Given the description of an element on the screen output the (x, y) to click on. 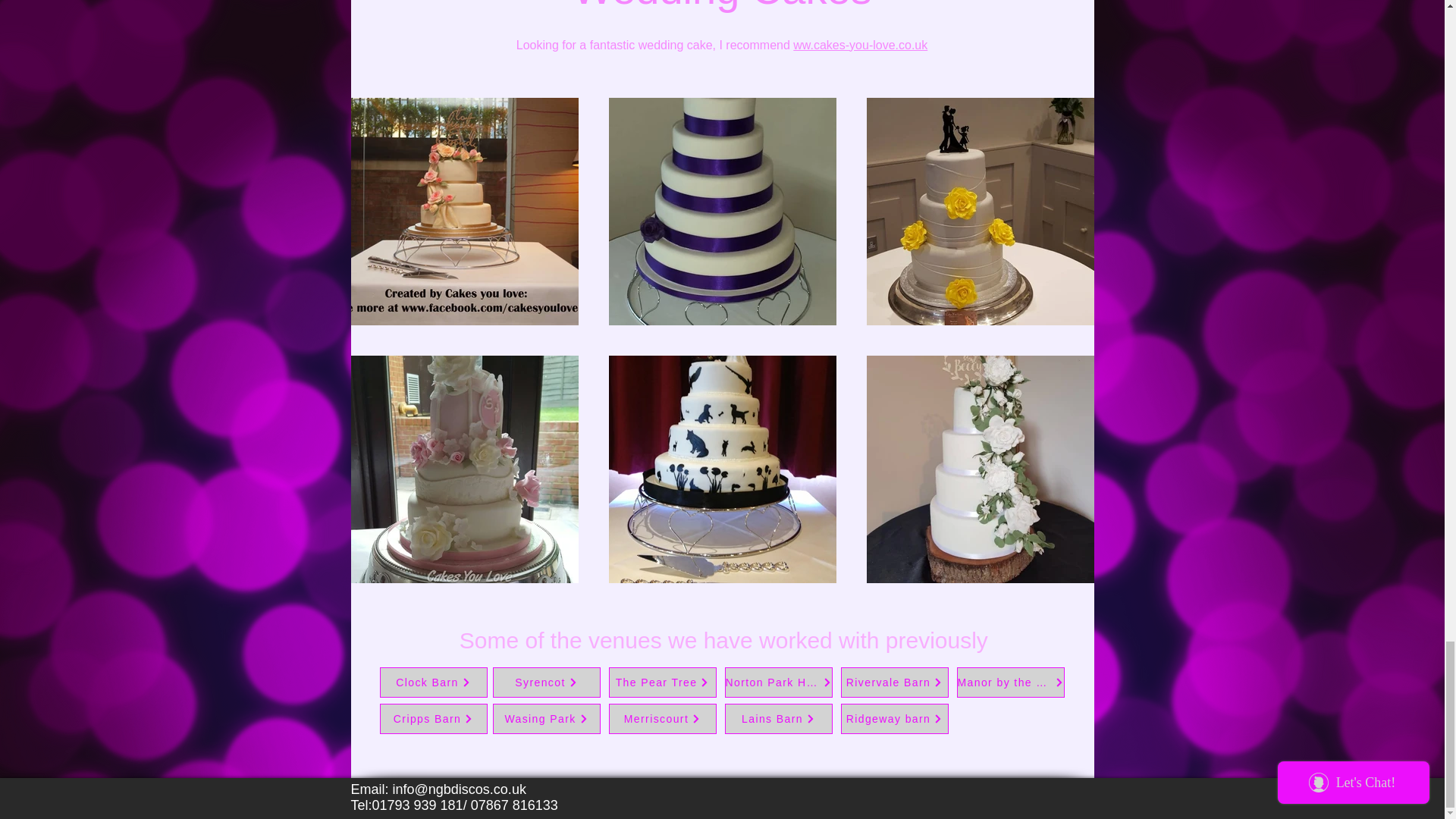
Cripps Barn (432, 718)
Syrencot (546, 682)
The Pear Tree (662, 682)
ww.cakes-you-love.co.uk (860, 44)
Clock Barn (432, 682)
Wasing Park (546, 718)
Merriscourt (662, 718)
Norton Park Hotel (778, 682)
